Given the description of an element on the screen output the (x, y) to click on. 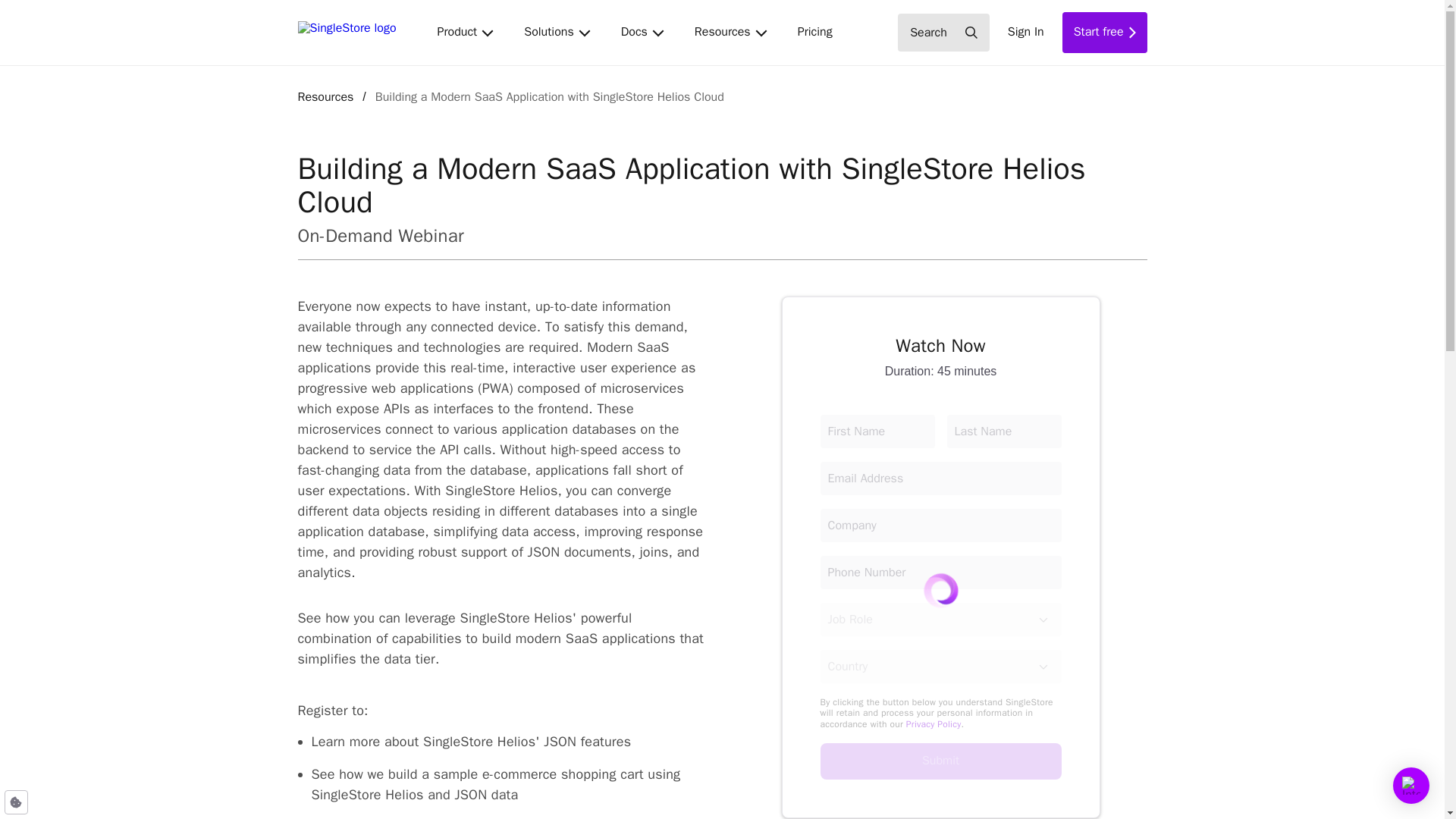
Chevron Down Icon (761, 32)
Chevron Down Icon (1043, 665)
Submit (465, 32)
Pricing (1104, 32)
Search Icon (941, 760)
Chevron Down Icon (815, 32)
